Given the description of an element on the screen output the (x, y) to click on. 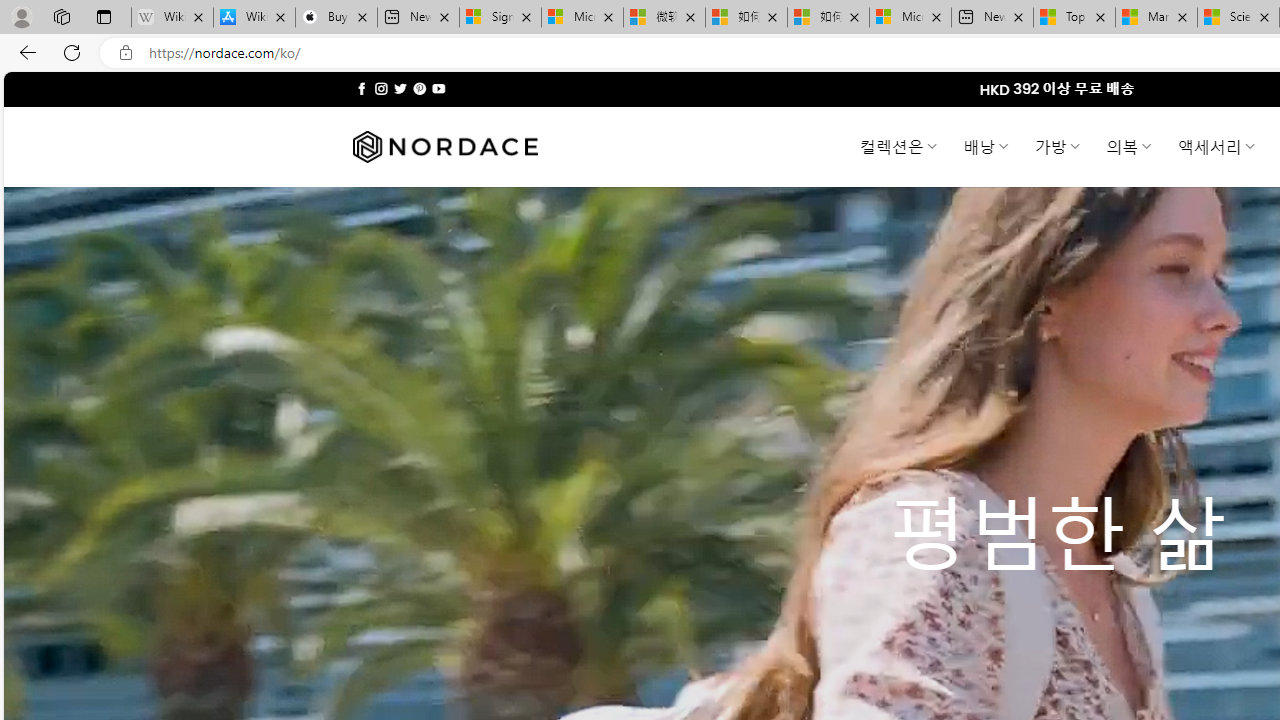
Top Stories - MSN (1074, 17)
Marine life - MSN (1156, 17)
